Given the description of an element on the screen output the (x, y) to click on. 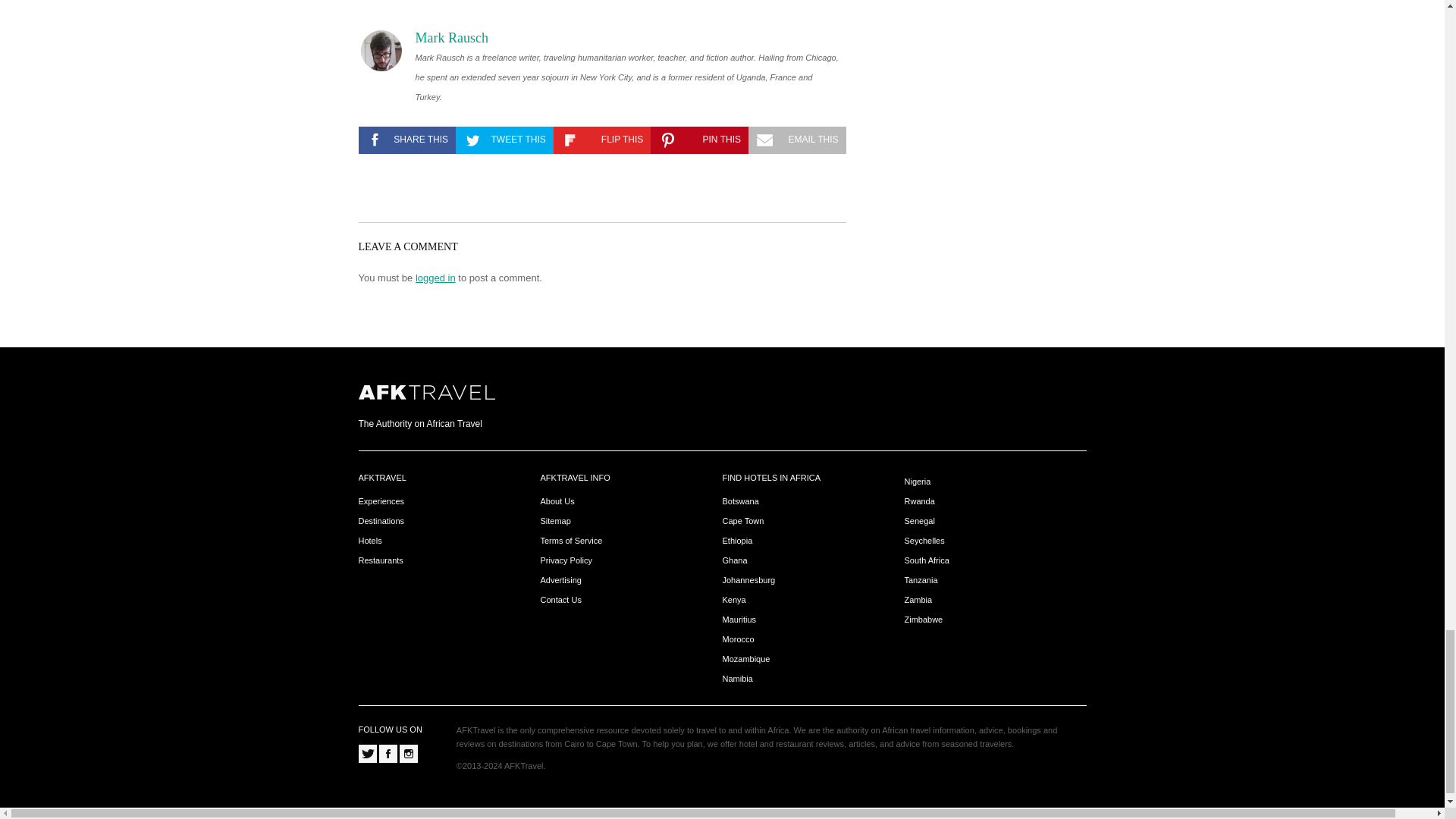
Experiences (381, 501)
logged in (434, 277)
Mark Rausch (450, 37)
Restaurants (380, 560)
Hotels (369, 541)
Destinations (381, 521)
